Given the description of an element on the screen output the (x, y) to click on. 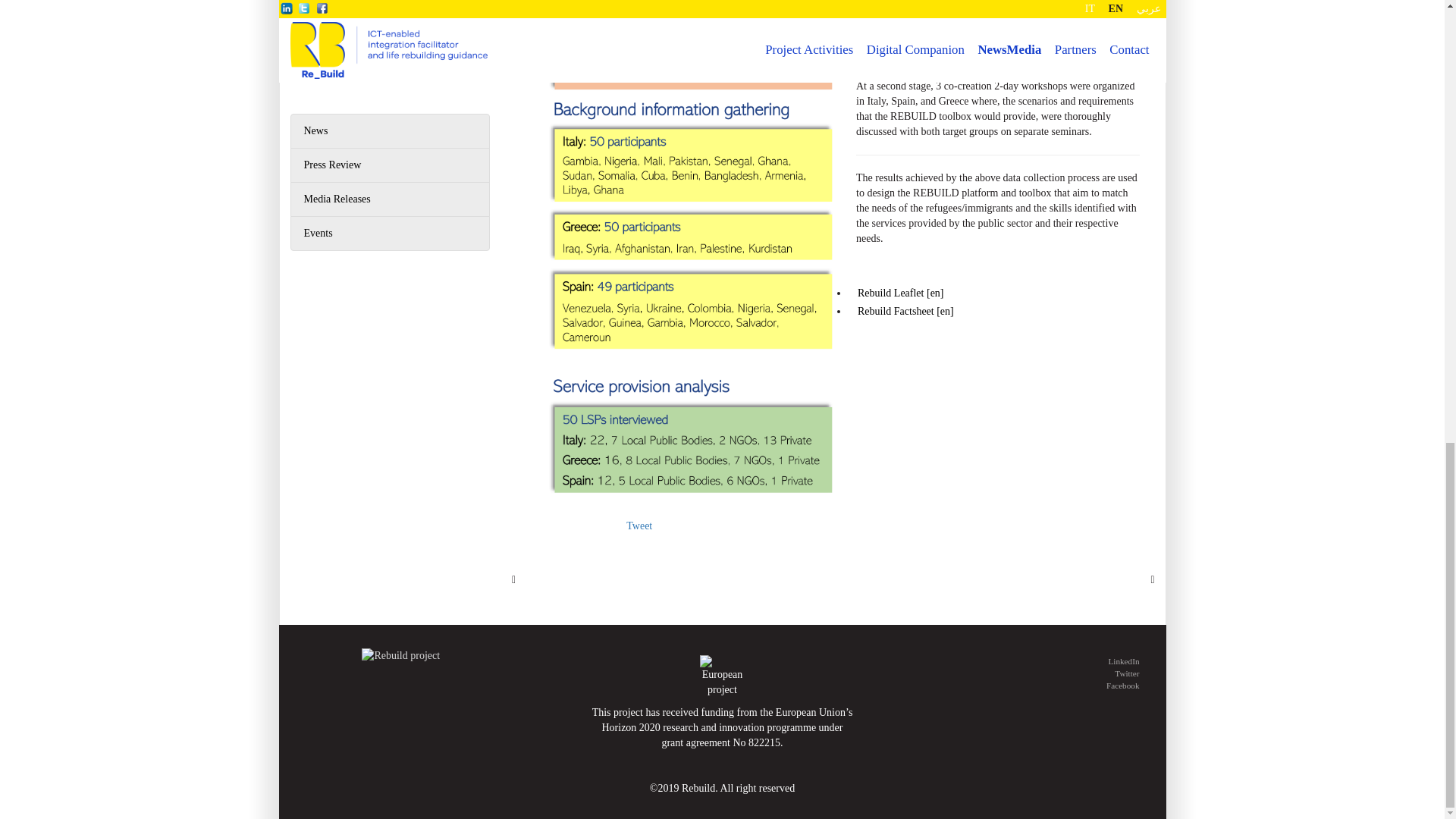
Tweet (639, 525)
Rebuild (721, 676)
REBUILD-FactSheet.pdf (905, 310)
Rebuild (400, 655)
REBUILD-Leaflet-digital.pdf (900, 292)
Twitter (1043, 673)
Facebook (1043, 685)
LinkedIn (1043, 661)
